Given the description of an element on the screen output the (x, y) to click on. 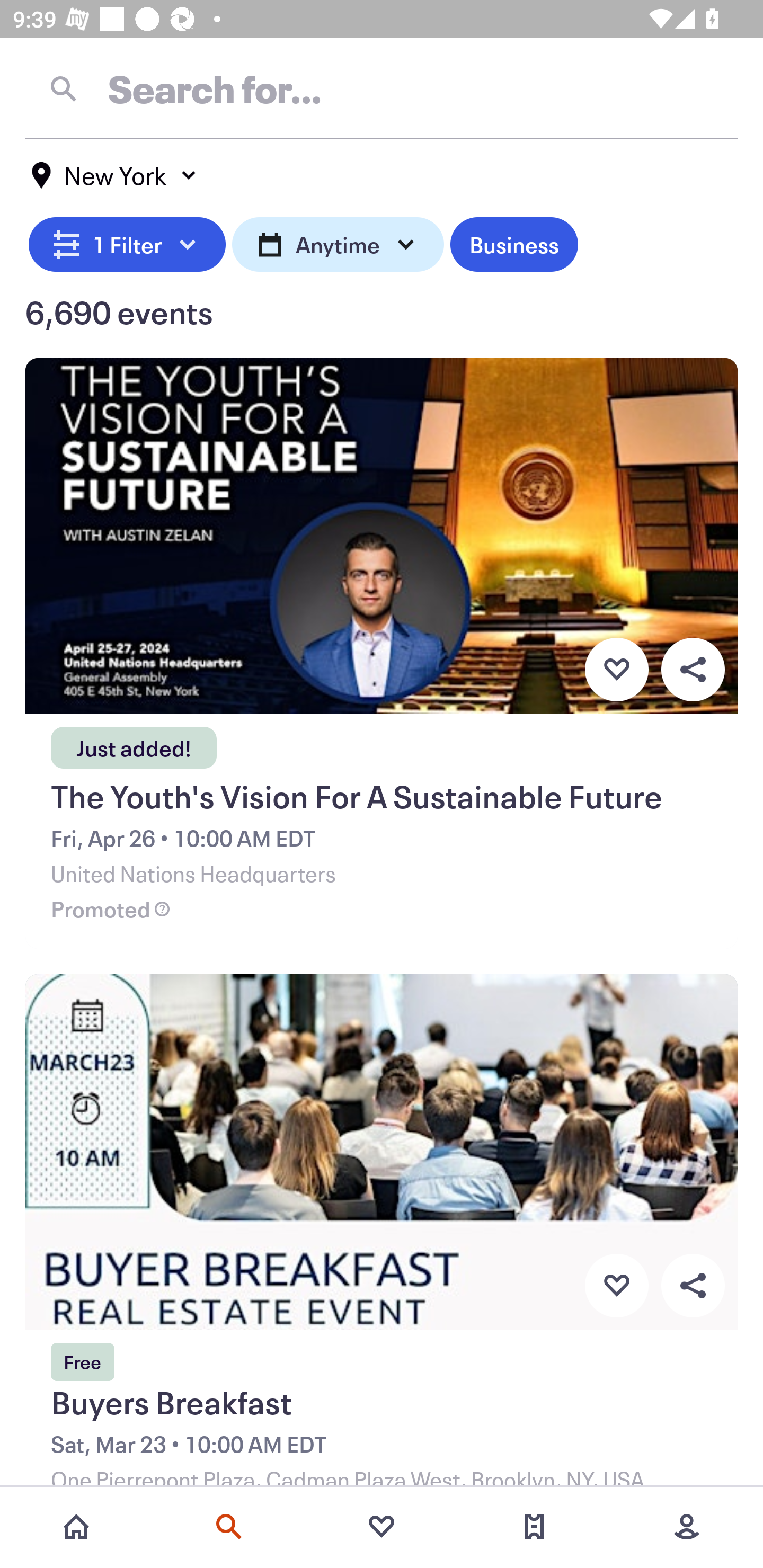
Search for… (381, 88)
New York (114, 175)
1 Filter (126, 241)
Anytime (337, 241)
Business (514, 241)
Favorite button (616, 669)
Overflow menu button (692, 669)
Just added! (133, 742)
Favorite button (616, 1285)
Overflow menu button (692, 1285)
Home (76, 1526)
Search events (228, 1526)
Favorites (381, 1526)
Tickets (533, 1526)
More (686, 1526)
